Given the description of an element on the screen output the (x, y) to click on. 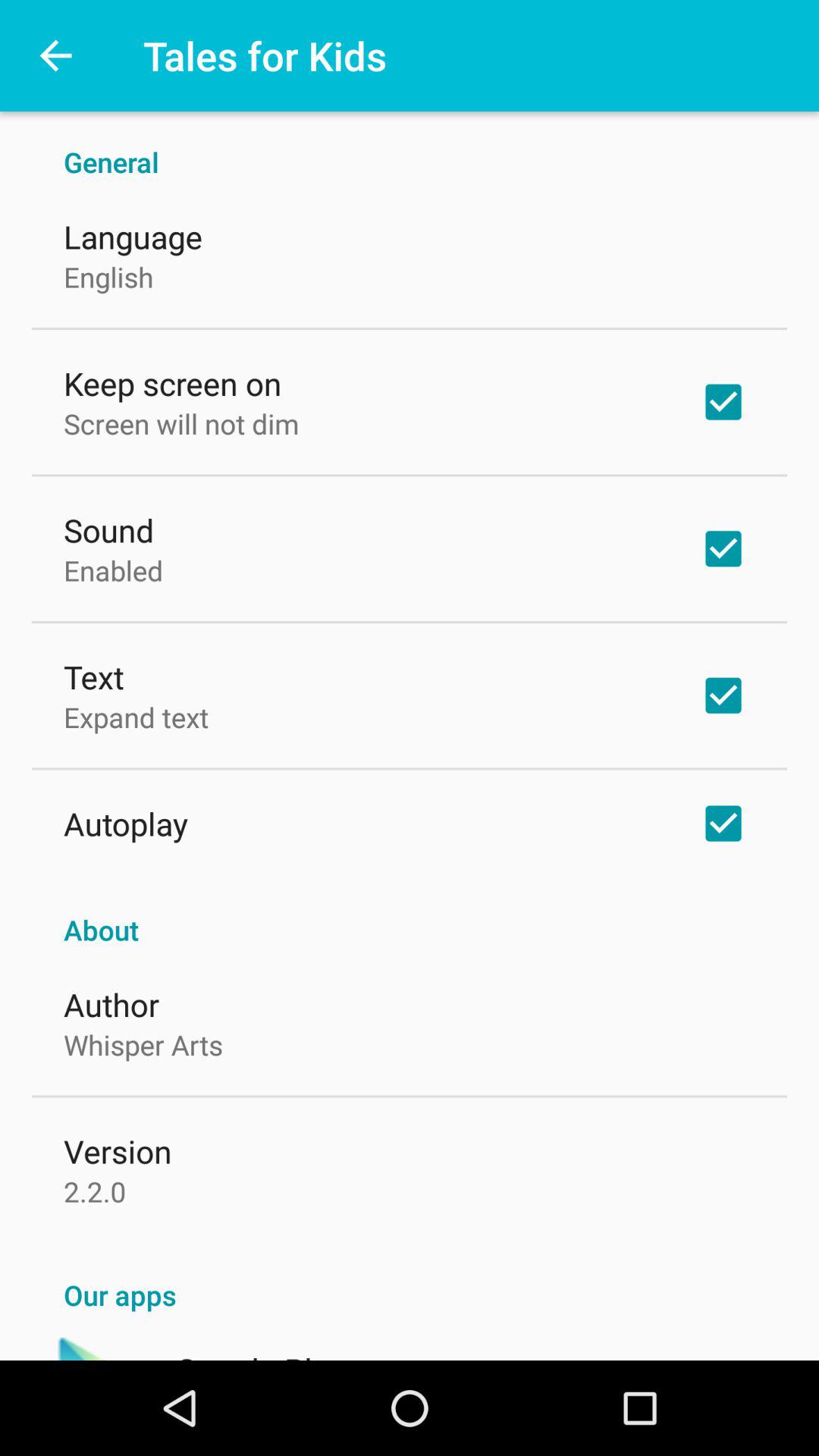
open the enabled icon (113, 570)
